Given the description of an element on the screen output the (x, y) to click on. 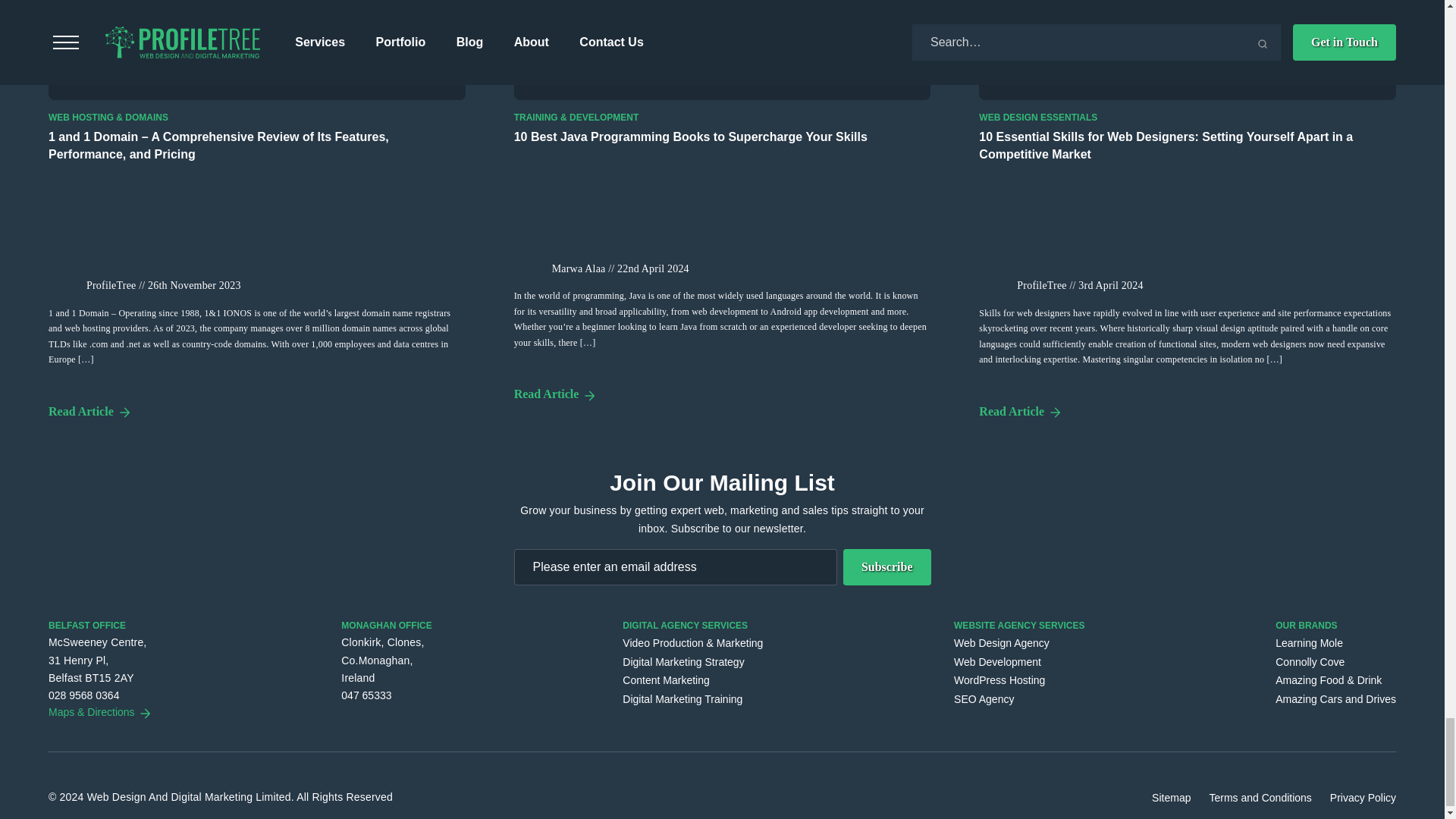
Subscribe (887, 566)
